Given the description of an element on the screen output the (x, y) to click on. 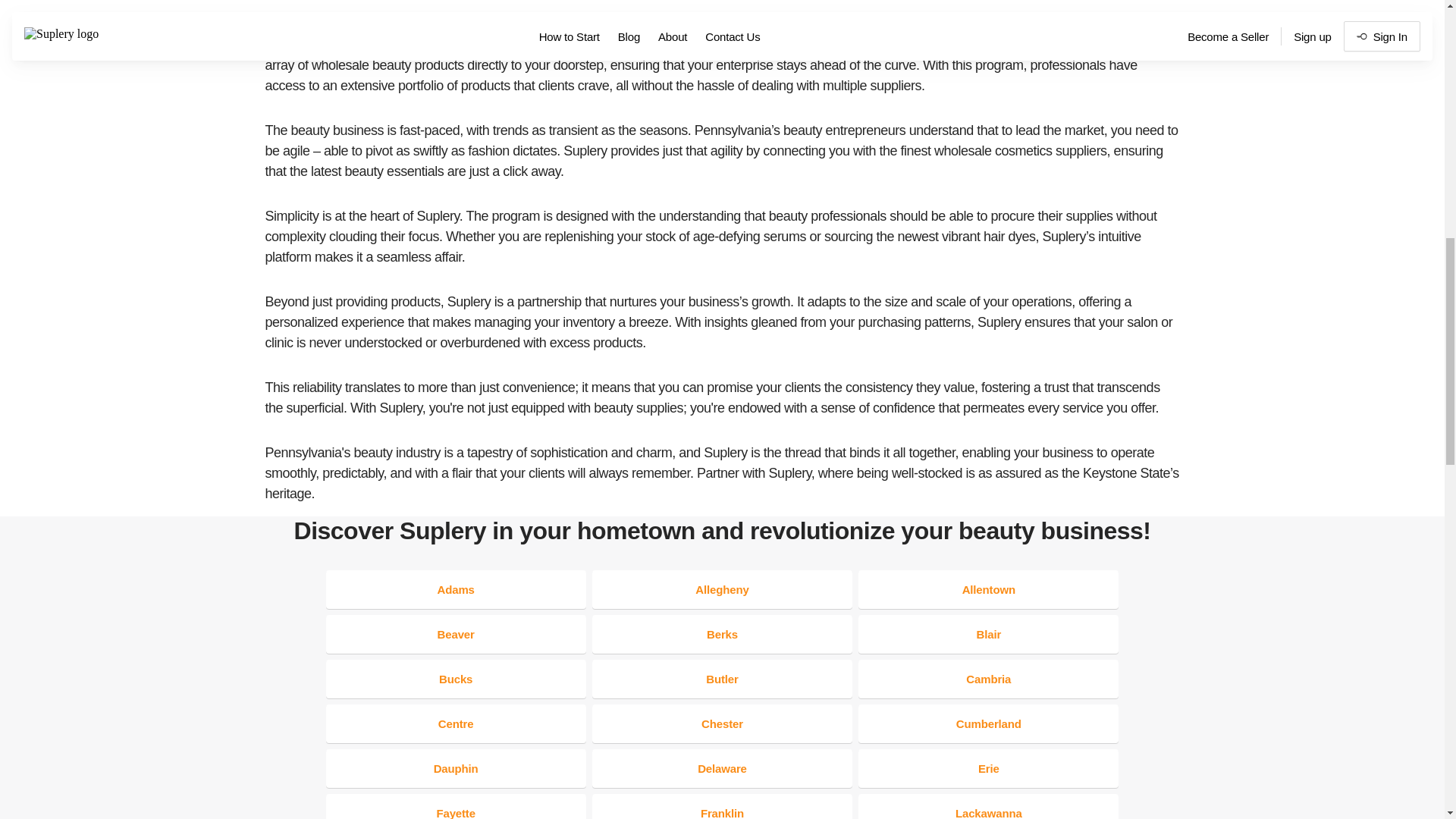
Cumberland (988, 723)
Dauphin (456, 768)
Beaver (456, 634)
Cambria (988, 679)
Blair (988, 634)
Berks (721, 634)
Franklin (721, 806)
Erie (988, 768)
Fayette (456, 806)
Allegheny (721, 589)
